Given the description of an element on the screen output the (x, y) to click on. 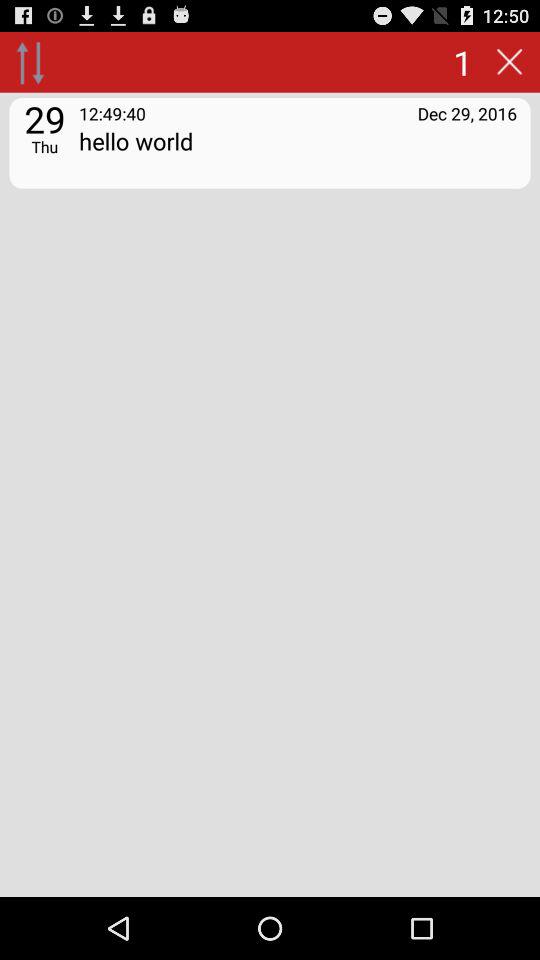
turn on icon next to the 1 app (509, 61)
